Given the description of an element on the screen output the (x, y) to click on. 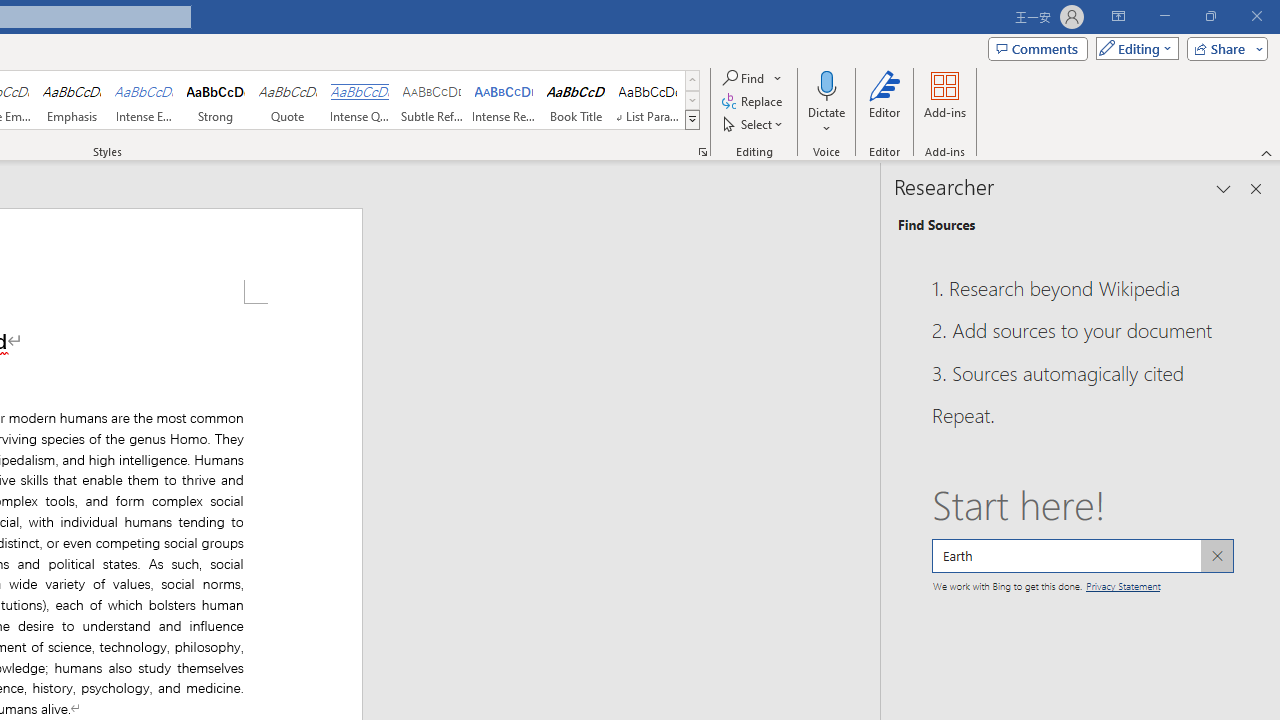
Intense Emphasis (143, 100)
Cancel (1216, 555)
Subtle Reference (431, 100)
